Given the description of an element on the screen output the (x, y) to click on. 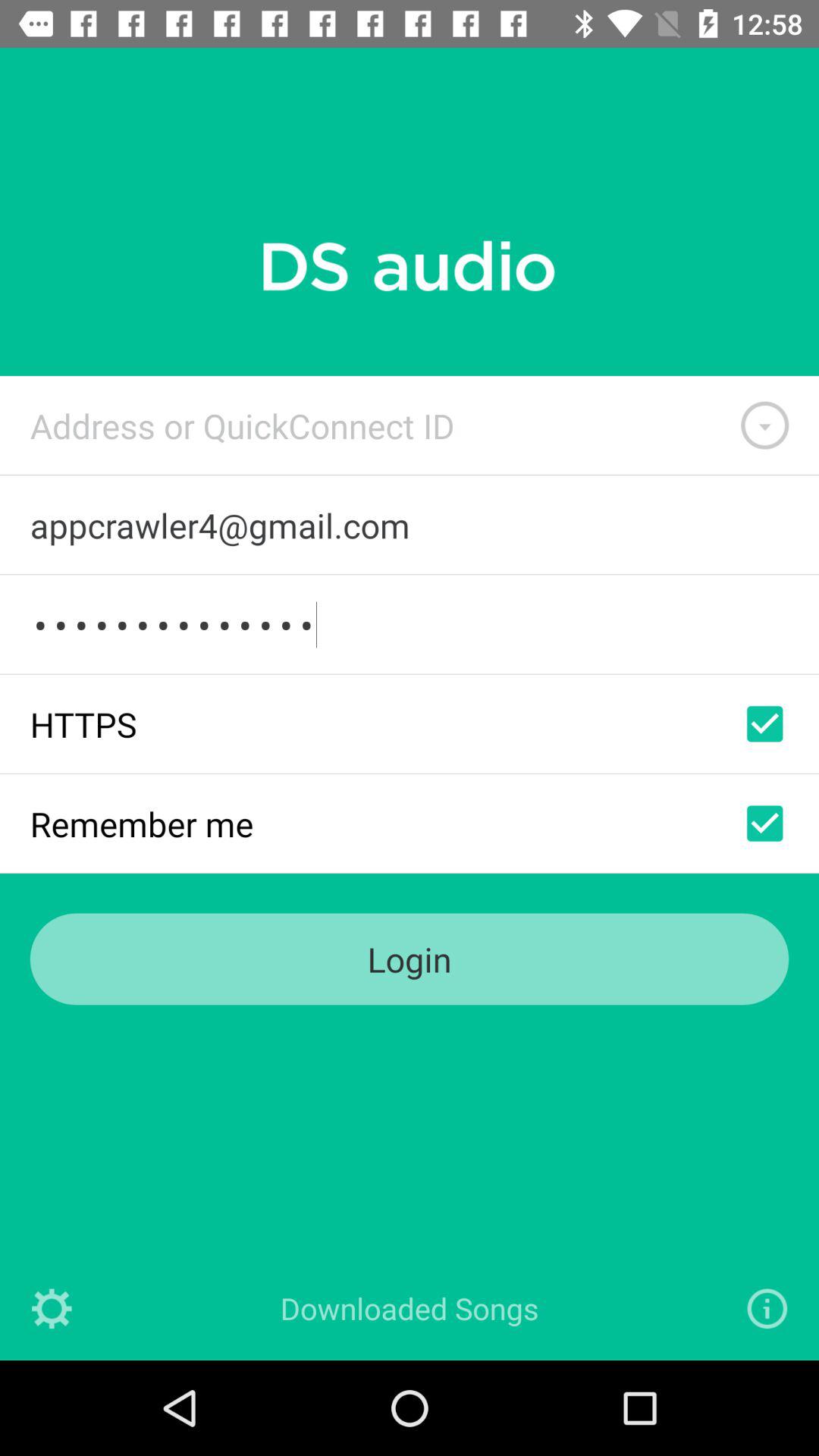
toggle https mode (764, 723)
